Given the description of an element on the screen output the (x, y) to click on. 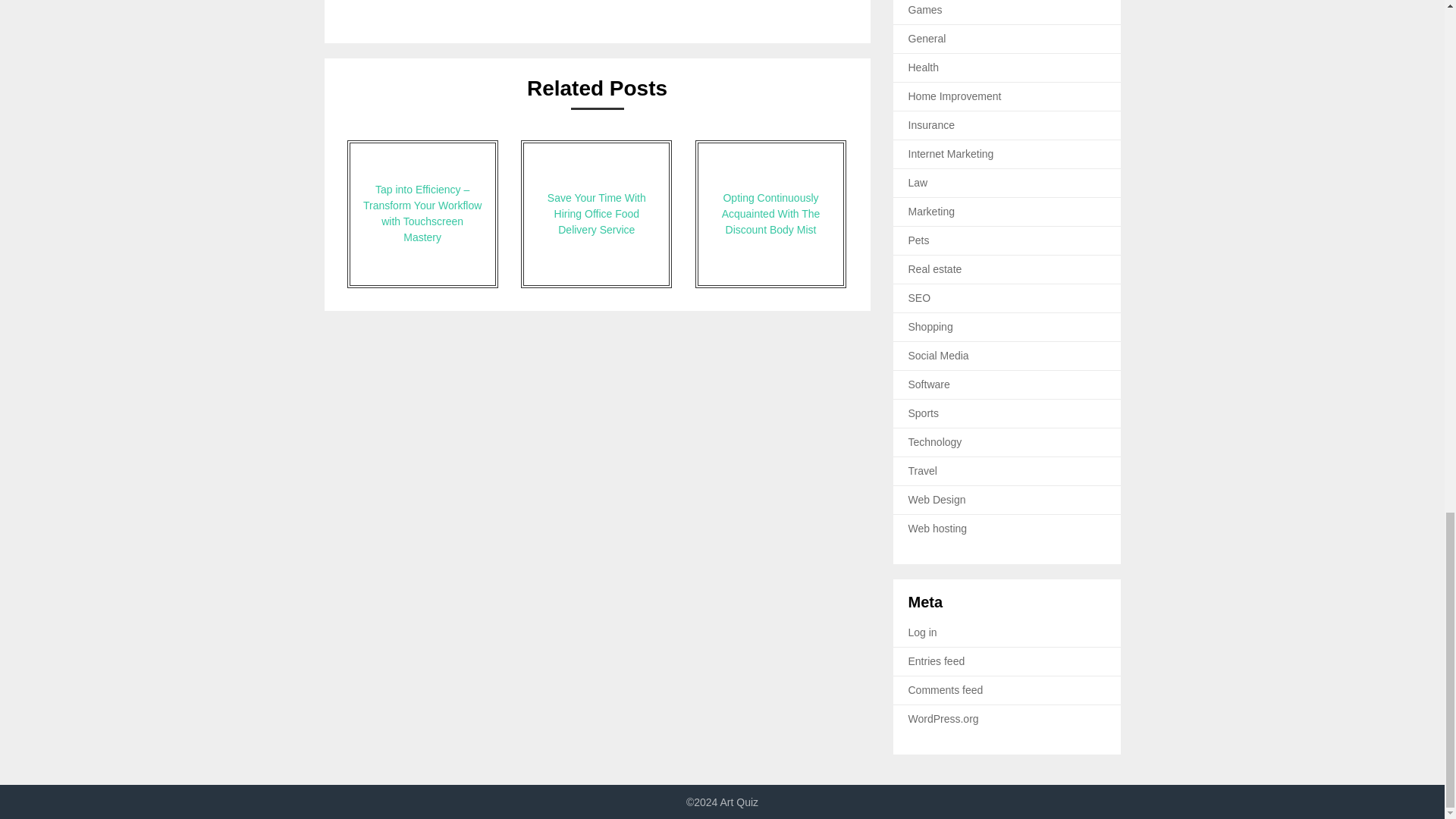
SEO (919, 297)
Opting Continuously Acquainted With The Discount Body Mist (770, 214)
Games (925, 9)
Home Improvement (954, 96)
Real estate (935, 268)
Marketing (931, 211)
Opting Continuously Acquainted With The Discount Body Mist (770, 214)
Pets (919, 240)
General (927, 38)
Save Your Time With Hiring Office Food Delivery Service (596, 214)
Internet Marketing (951, 153)
Law (918, 182)
Health (923, 67)
Insurance (931, 124)
Save Your Time With Hiring Office Food Delivery Service (596, 214)
